Given the description of an element on the screen output the (x, y) to click on. 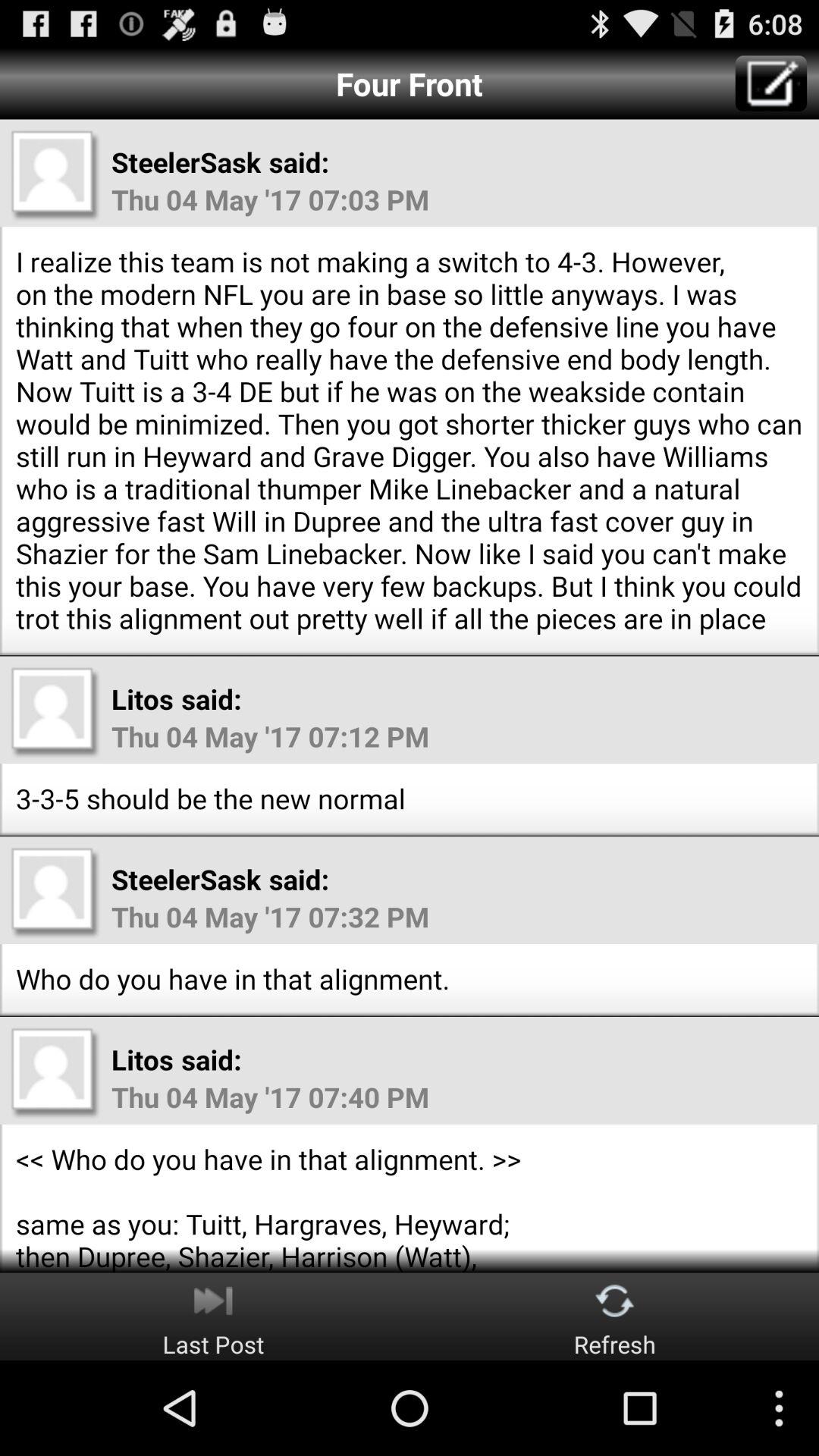
turn off button next to refresh button (213, 1316)
